Given the description of an element on the screen output the (x, y) to click on. 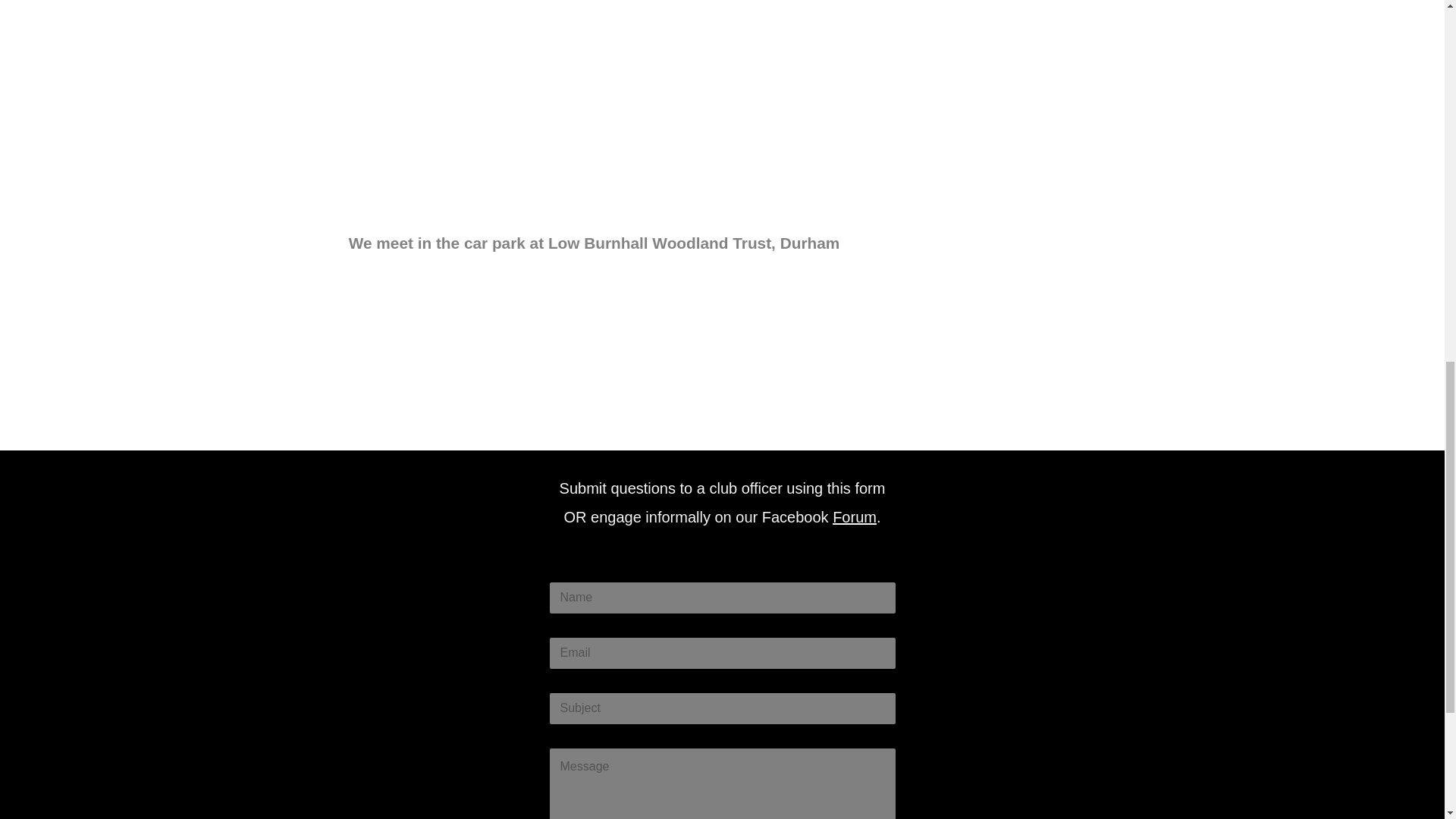
Forum (854, 516)
